Given the description of an element on the screen output the (x, y) to click on. 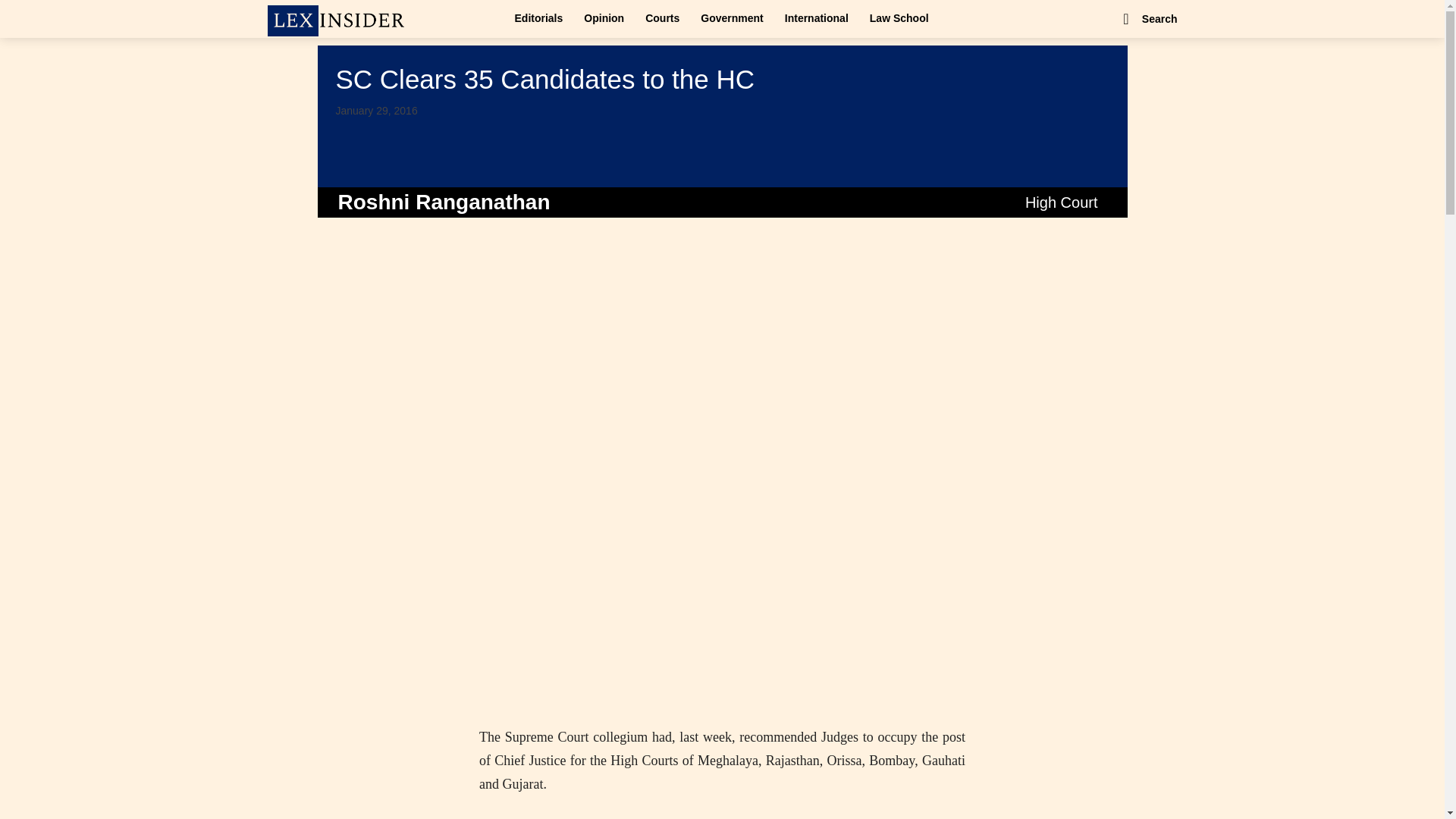
Opinion (603, 18)
Courts (662, 18)
International (816, 18)
Editorials (538, 18)
Government (731, 18)
Law School (899, 18)
Search (1147, 18)
